Given the description of an element on the screen output the (x, y) to click on. 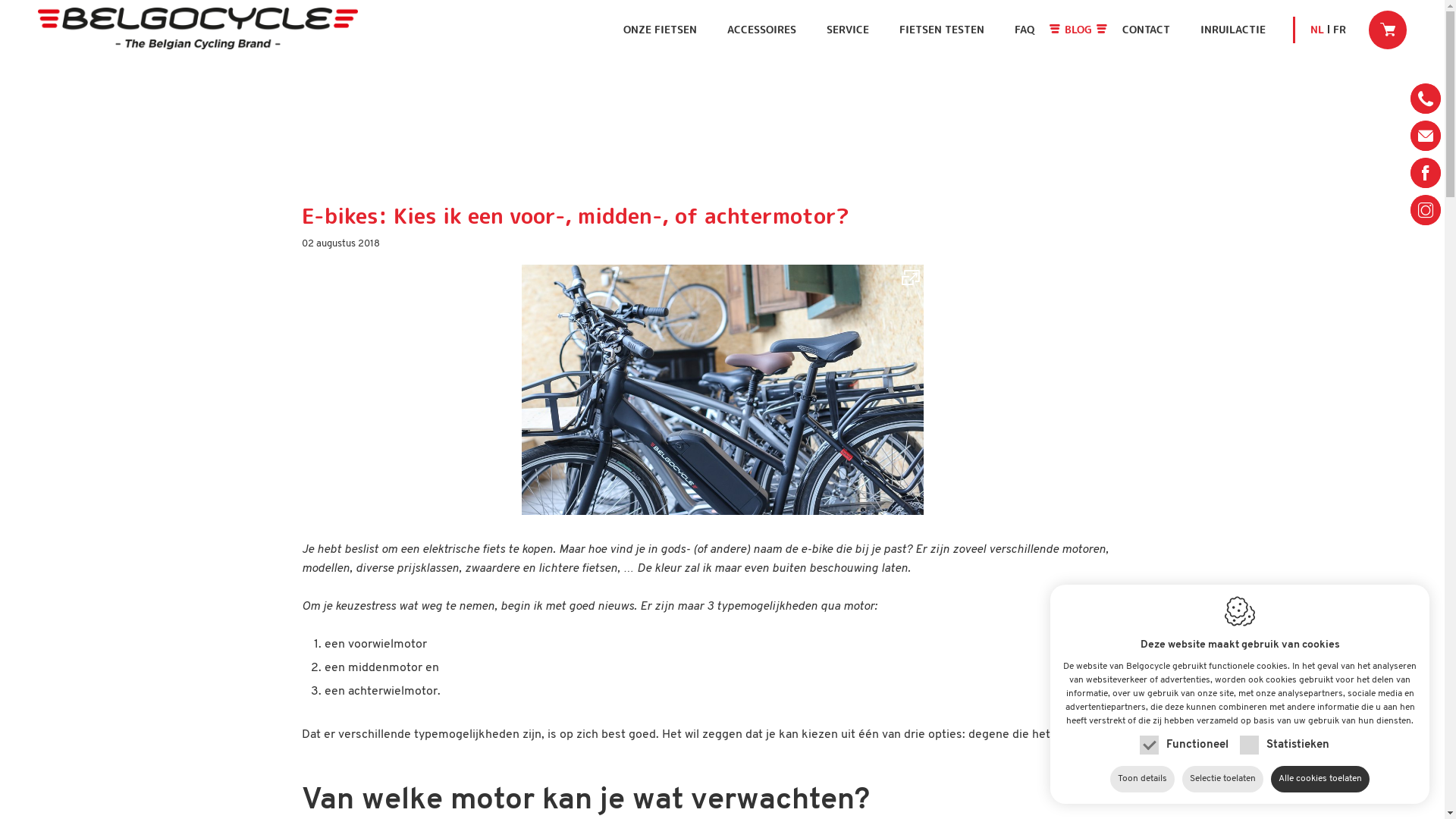
Toon details Element type: text (1142, 778)
INRUILACTIE Element type: text (1232, 29)
NL Element type: text (1321, 29)
Mijn winkelmandje Element type: hover (1387, 29)
080/02 69 83 Element type: text (1425, 98)
info@belgocycle.be Element type: text (1425, 135)
ACCESSOIRES Element type: text (761, 29)
BLOG Element type: text (1078, 29)
FR Element type: text (1339, 29)
FAQ Element type: text (1024, 29)
ONZE FIETSEN Element type: text (660, 29)
FIETSEN TESTEN Element type: text (941, 29)
CONTACT Element type: text (1146, 29)
SERVICE Element type: text (847, 29)
